Given the description of an element on the screen output the (x, y) to click on. 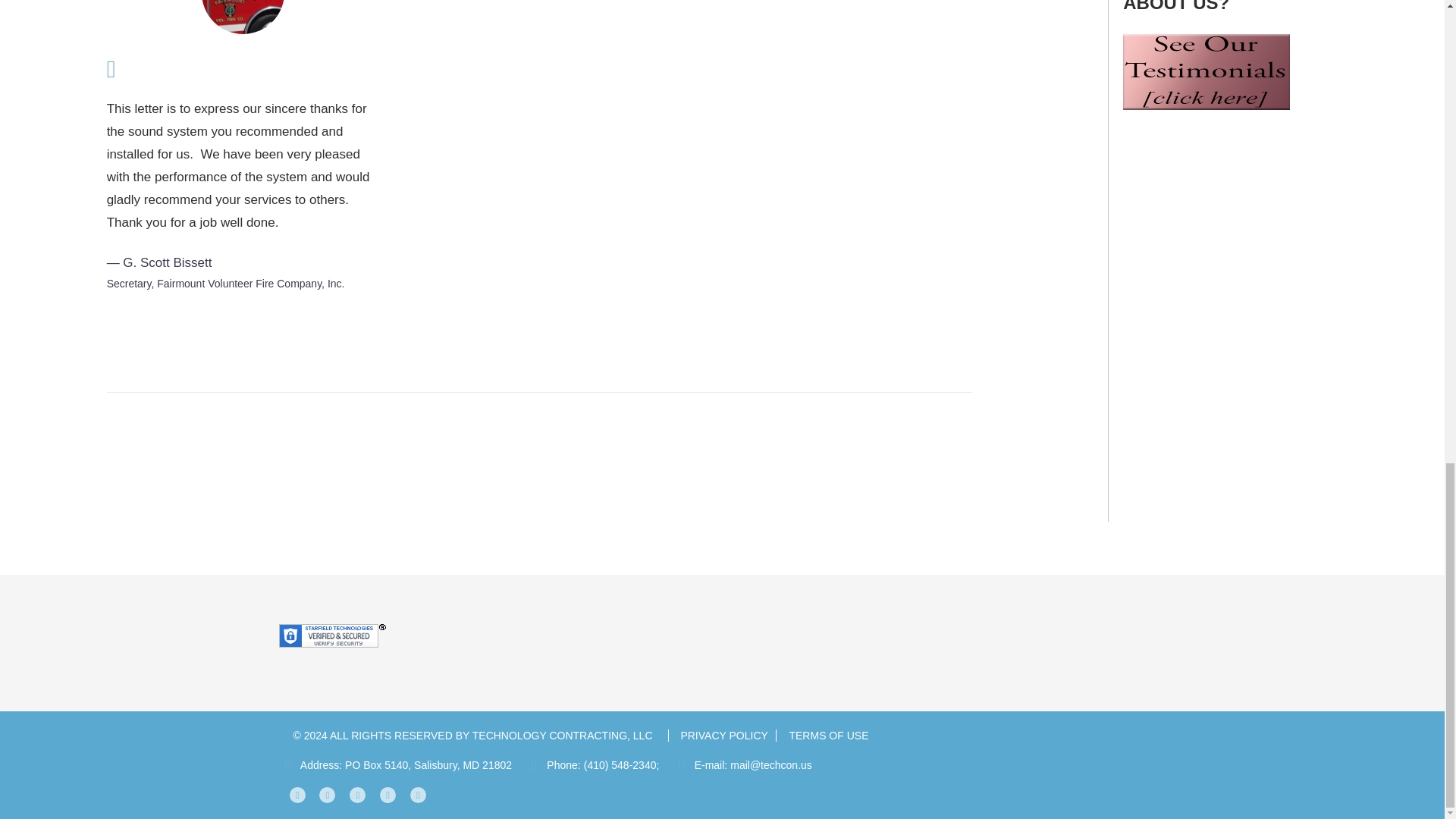
LIKE US ON FACEBOOK (297, 795)
TERMS OF USE (821, 735)
TWITTER (326, 795)
YOUTUBE (357, 795)
PRIVACY POLICY (717, 735)
